Given the description of an element on the screen output the (x, y) to click on. 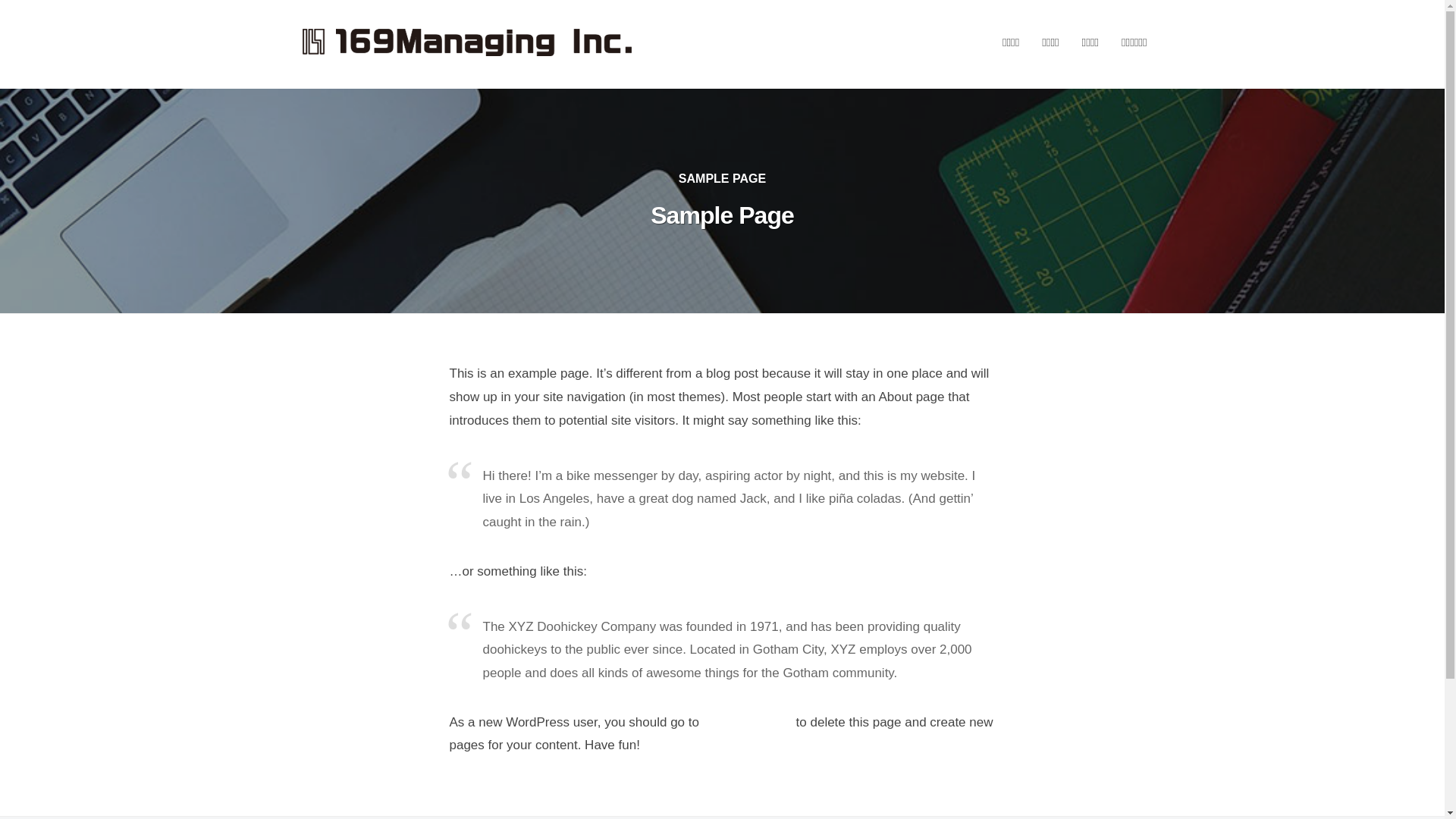
your dashboard Element type: text (747, 722)
